Given the description of an element on the screen output the (x, y) to click on. 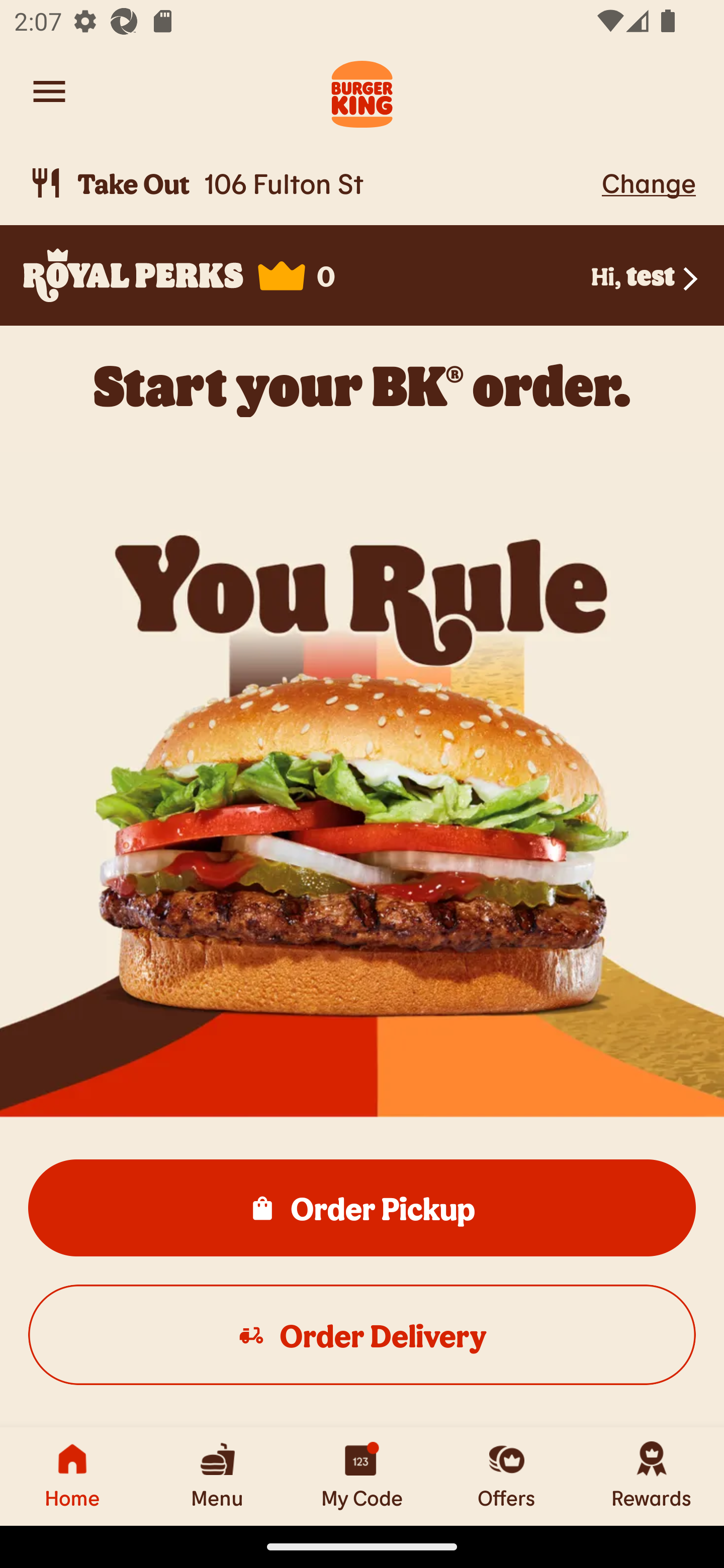
Burger King Logo. Navigate to Home (362, 91)
Navigate to account menu  (49, 91)
Take Out, 106 Fulton St  Take Out 106 Fulton St (311, 183)
Change (648, 182)
Start your BK® order. (361, 385)
, Order Pickup  Order Pickup (361, 1206)
, Order Delivery  Order Delivery (361, 1334)
Home (72, 1475)
Menu (216, 1475)
My Code (361, 1475)
Offers (506, 1475)
Rewards (651, 1475)
